Given the description of an element on the screen output the (x, y) to click on. 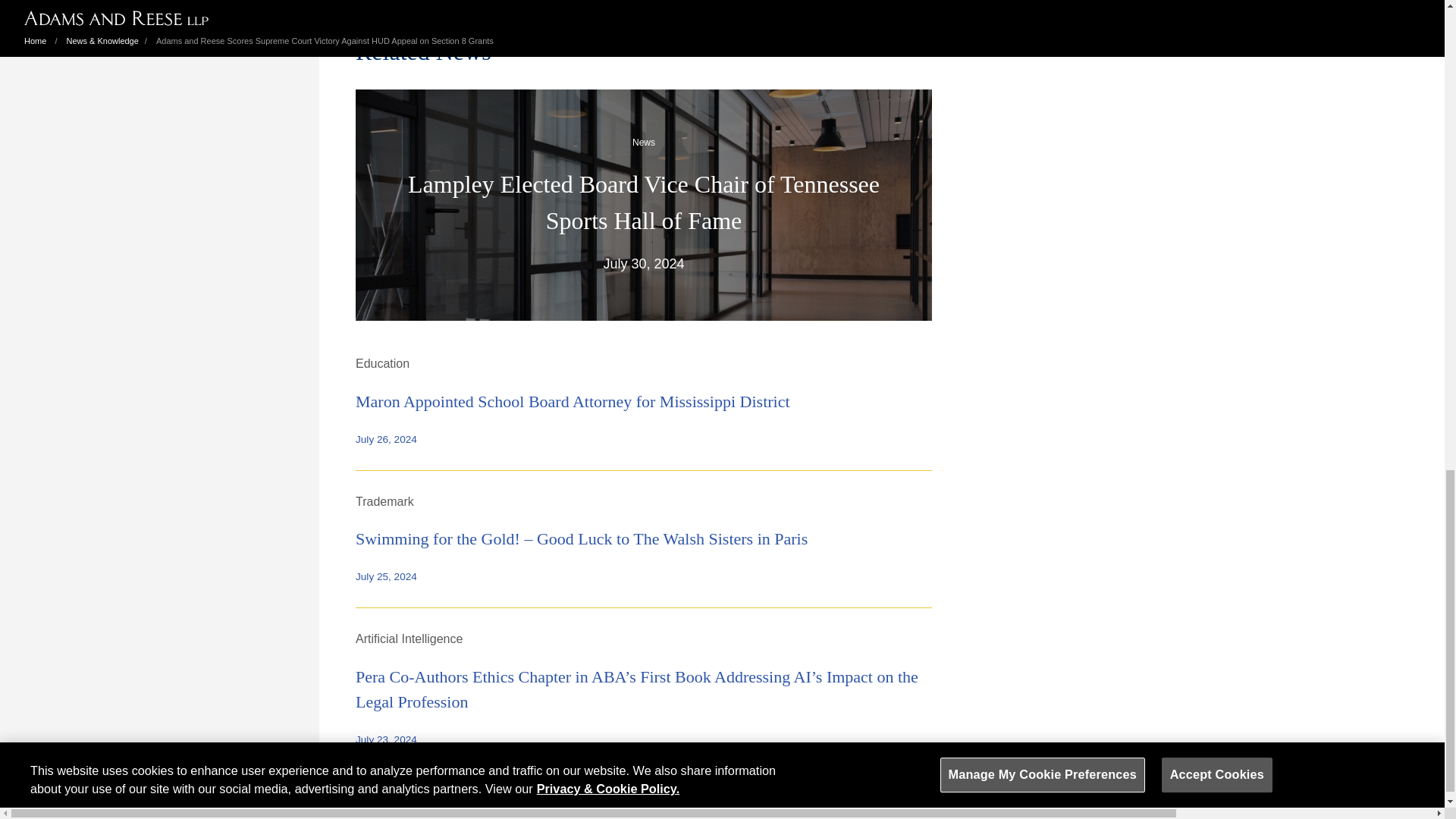
Contact (346, 788)
Artificial Intelligence (409, 638)
Facebook (667, 788)
YouTube (801, 788)
Trademark (384, 501)
Disclaimer (468, 788)
Education (382, 363)
Client Pay (403, 788)
LinkedIn (746, 788)
